Given the description of an element on the screen output the (x, y) to click on. 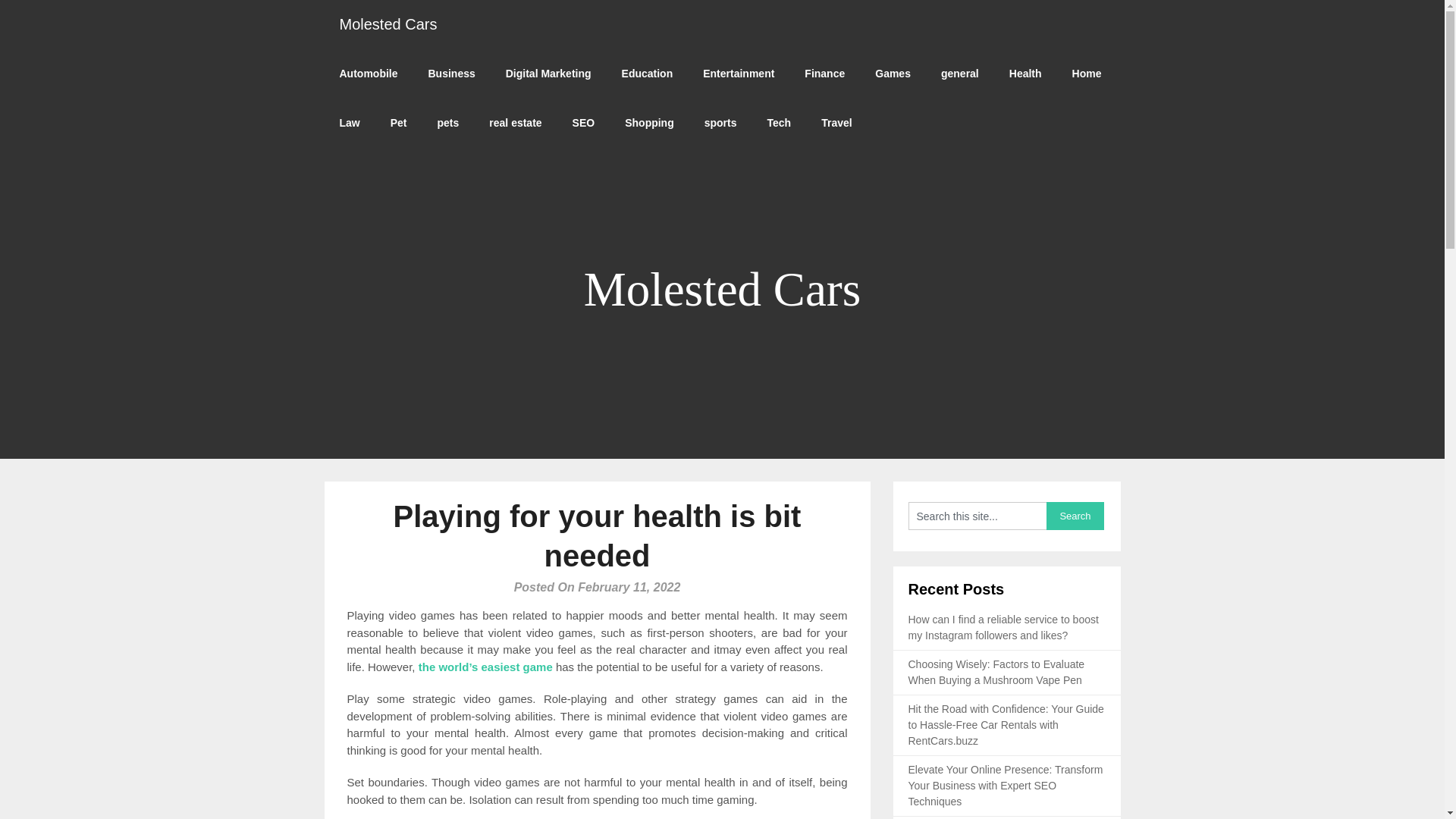
Search (1075, 515)
Shopping (649, 123)
Automobile (368, 73)
Search (1075, 515)
Entertainment (738, 73)
Home (1086, 73)
Molested Cars (388, 24)
Business (450, 73)
Search this site... (977, 515)
